Given the description of an element on the screen output the (x, y) to click on. 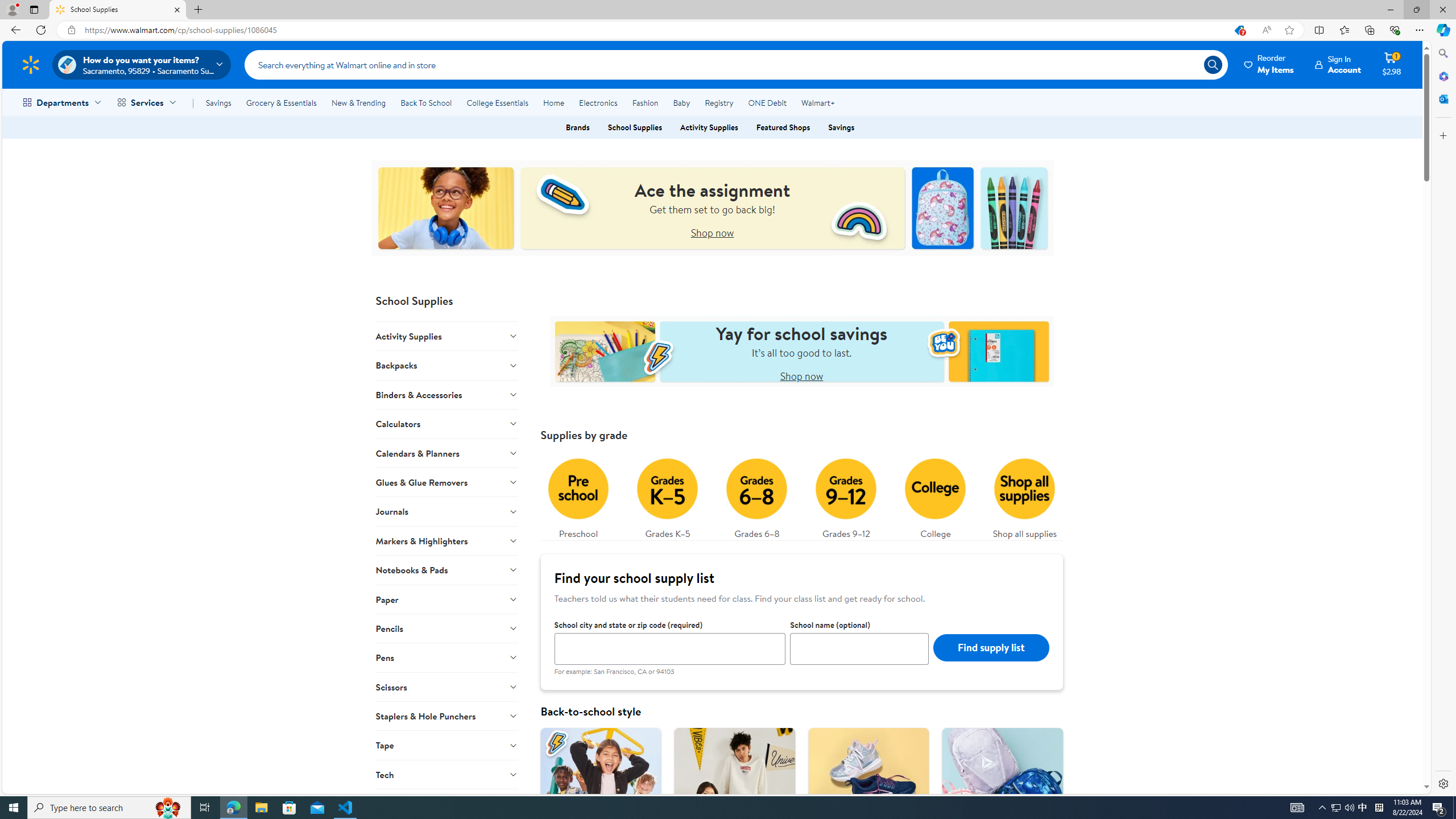
Registry (718, 102)
Savings (217, 102)
Shop all supplies (1024, 495)
